Given the description of an element on the screen output the (x, y) to click on. 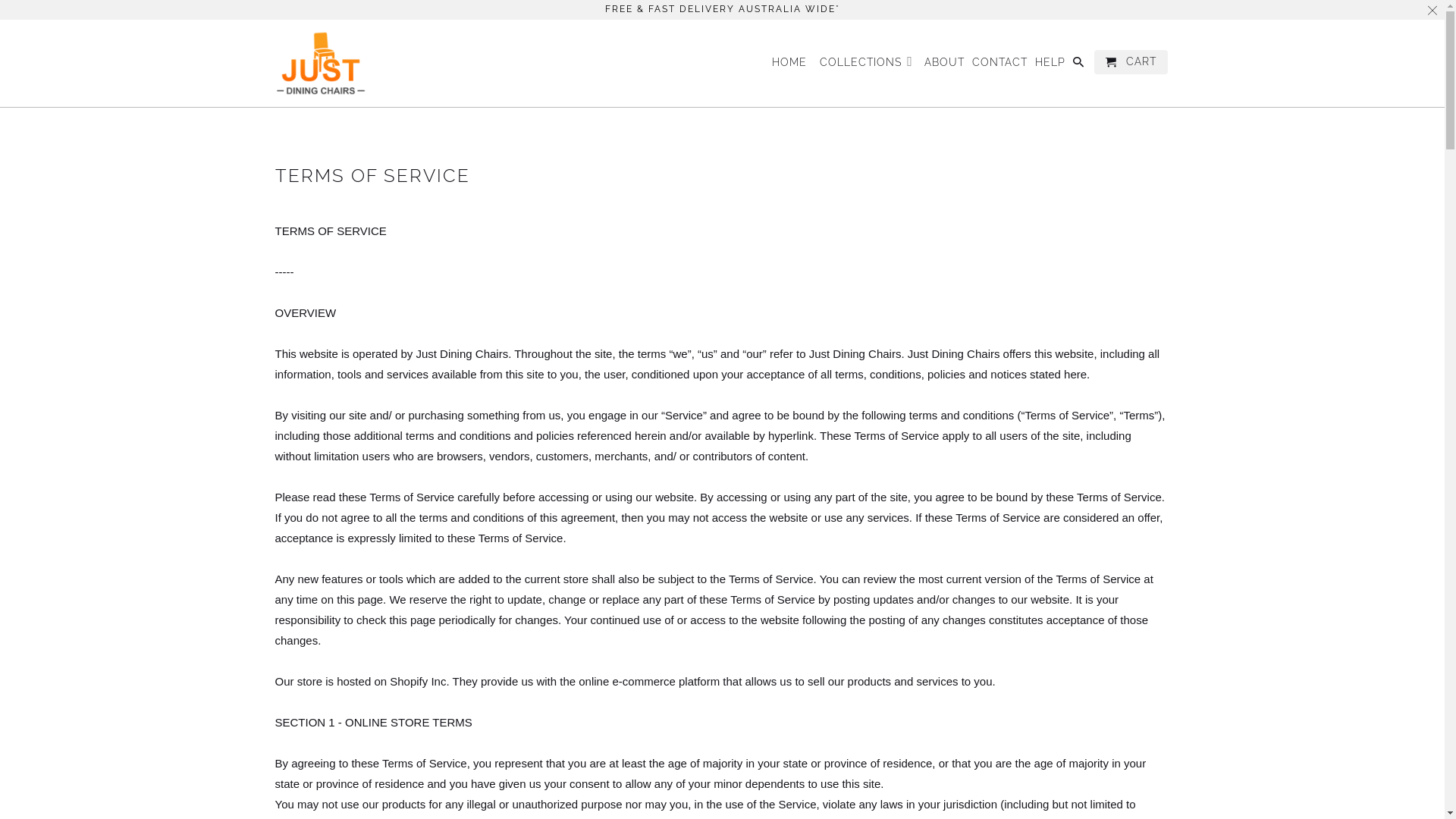
ABOUT Element type: text (944, 65)
CART Element type: text (1130, 62)
Search Element type: hover (1079, 65)
HOME Element type: text (788, 65)
CONTACT Element type: text (999, 65)
Just Dining Chairs Element type: hover (319, 63)
HELP Element type: text (1050, 65)
